Given the description of an element on the screen output the (x, y) to click on. 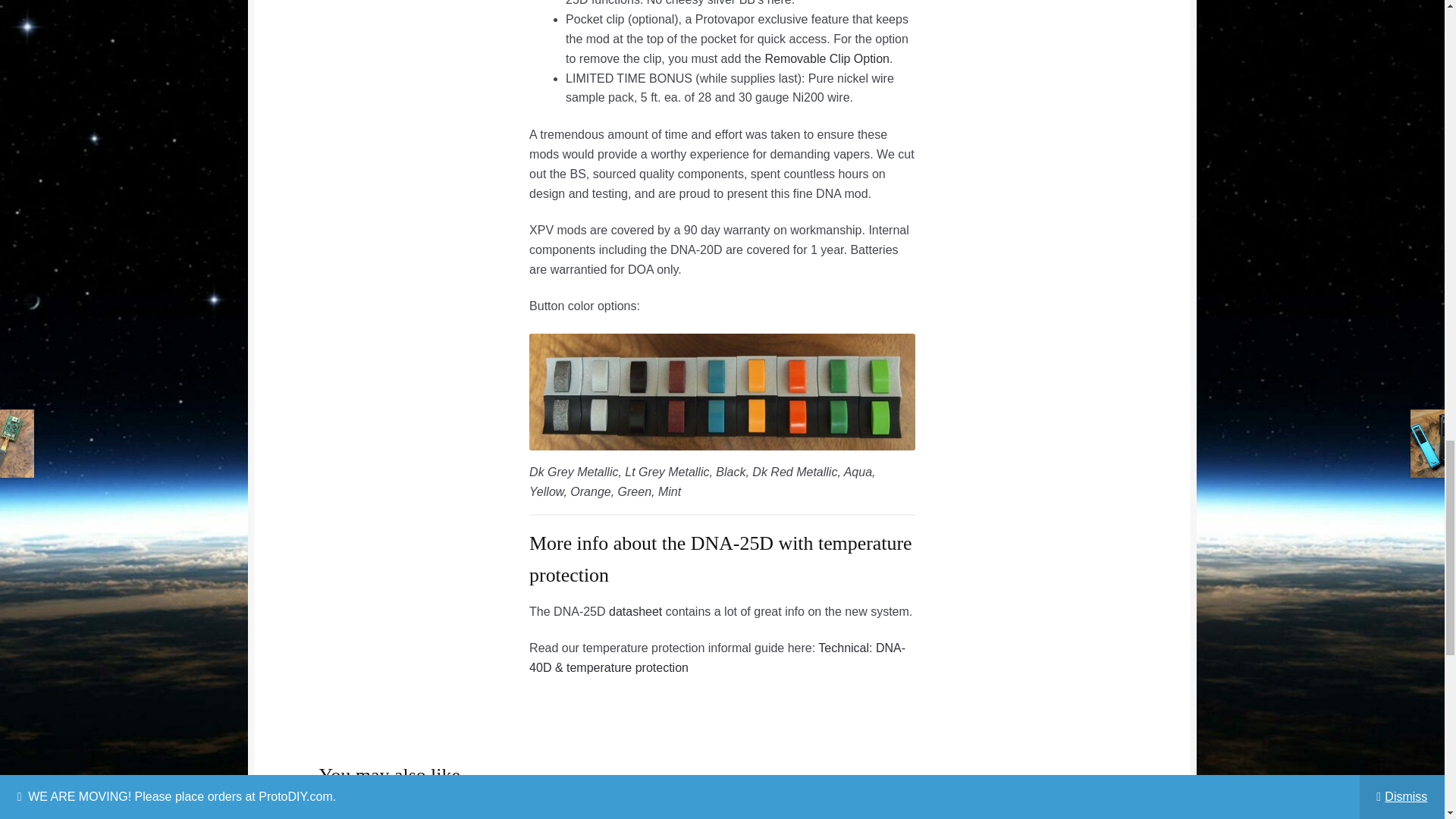
XPV Removable Clip Option (826, 58)
